Given the description of an element on the screen output the (x, y) to click on. 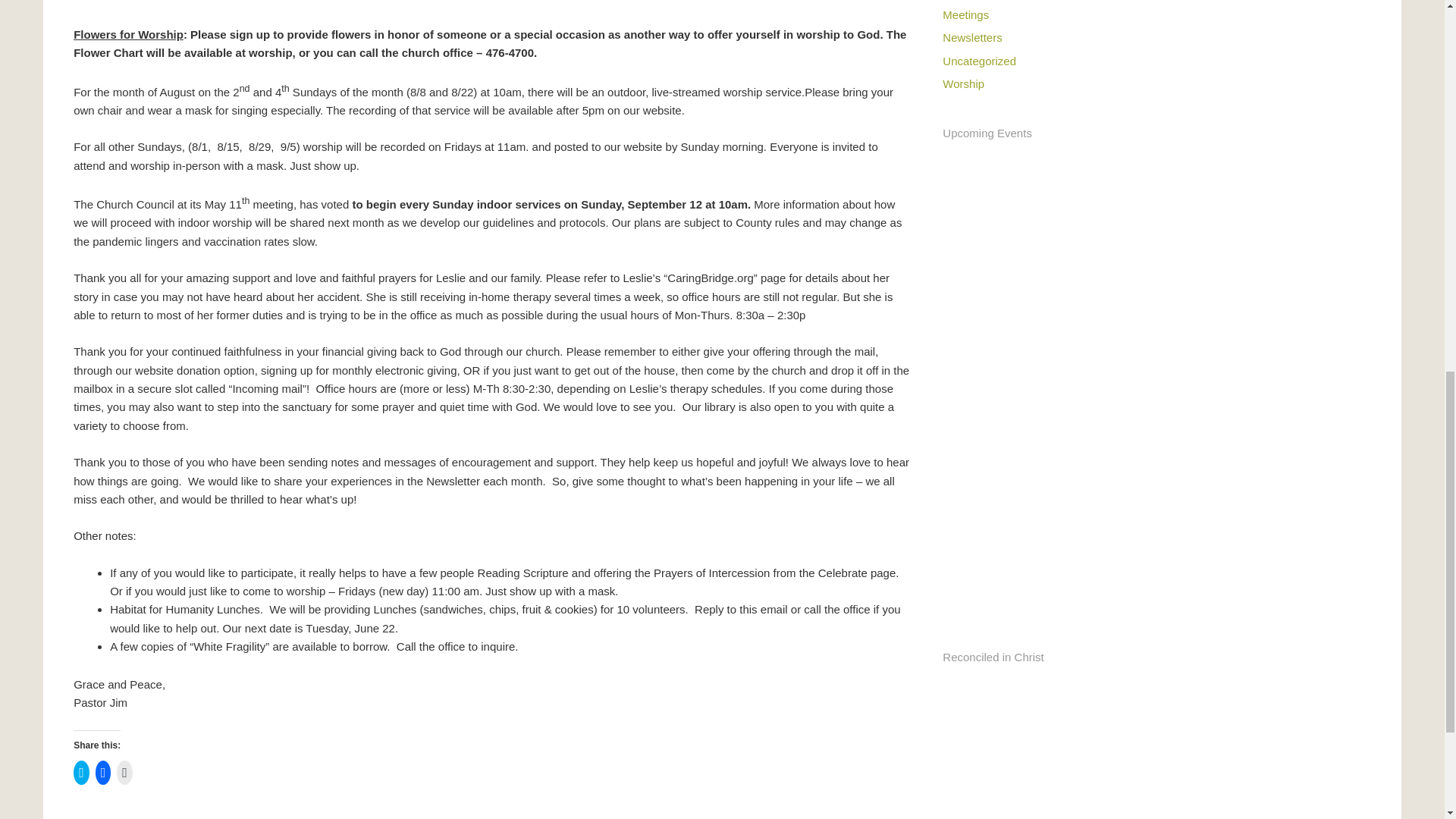
Newsletters (971, 37)
Worship (963, 83)
Uncategorized (979, 60)
Click to print (124, 772)
Click to share on Twitter (81, 772)
Meetings (965, 14)
Click to share on Facebook (104, 772)
